Given the description of an element on the screen output the (x, y) to click on. 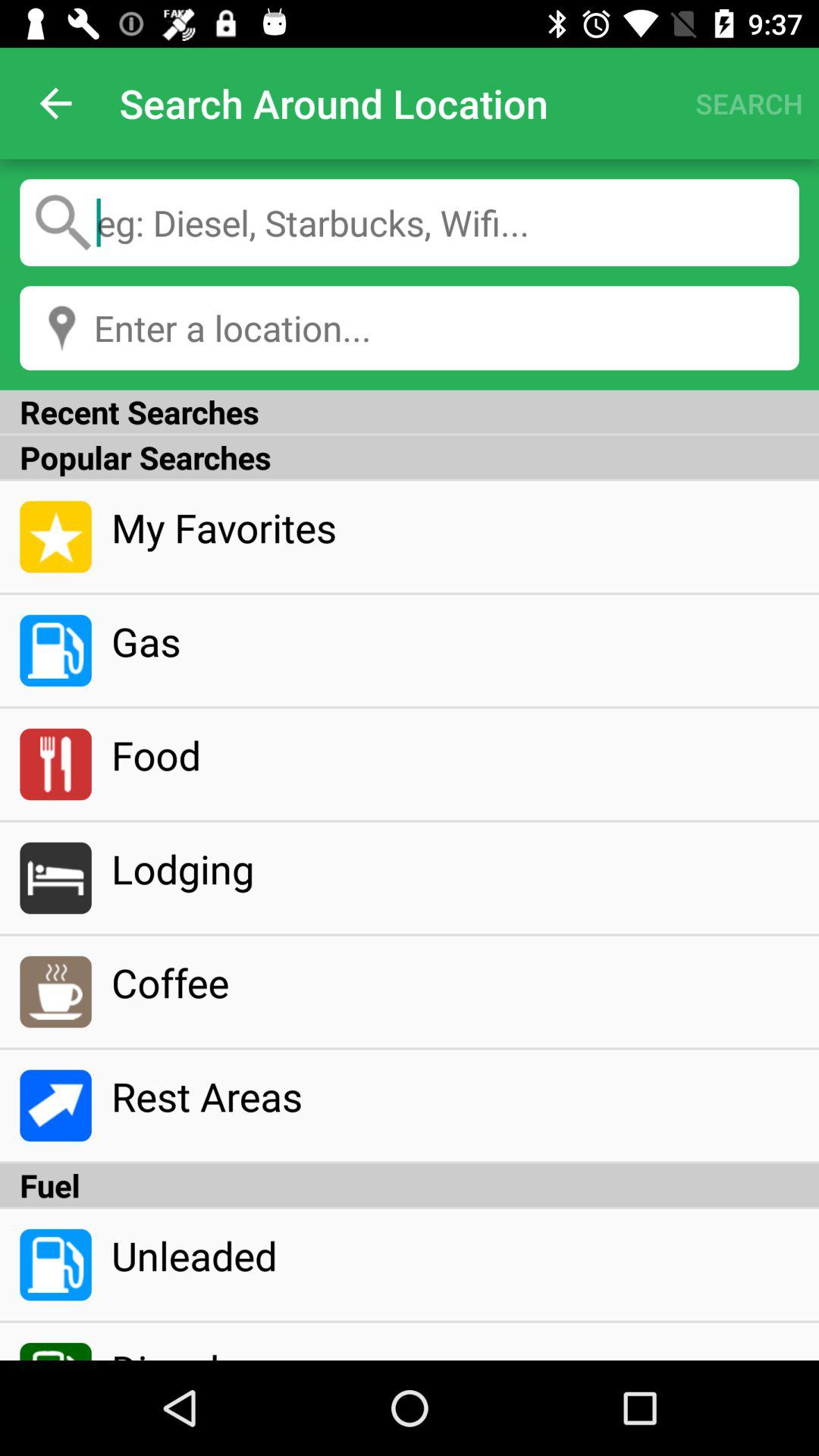
launch the diesel icon (455, 1351)
